Given the description of an element on the screen output the (x, y) to click on. 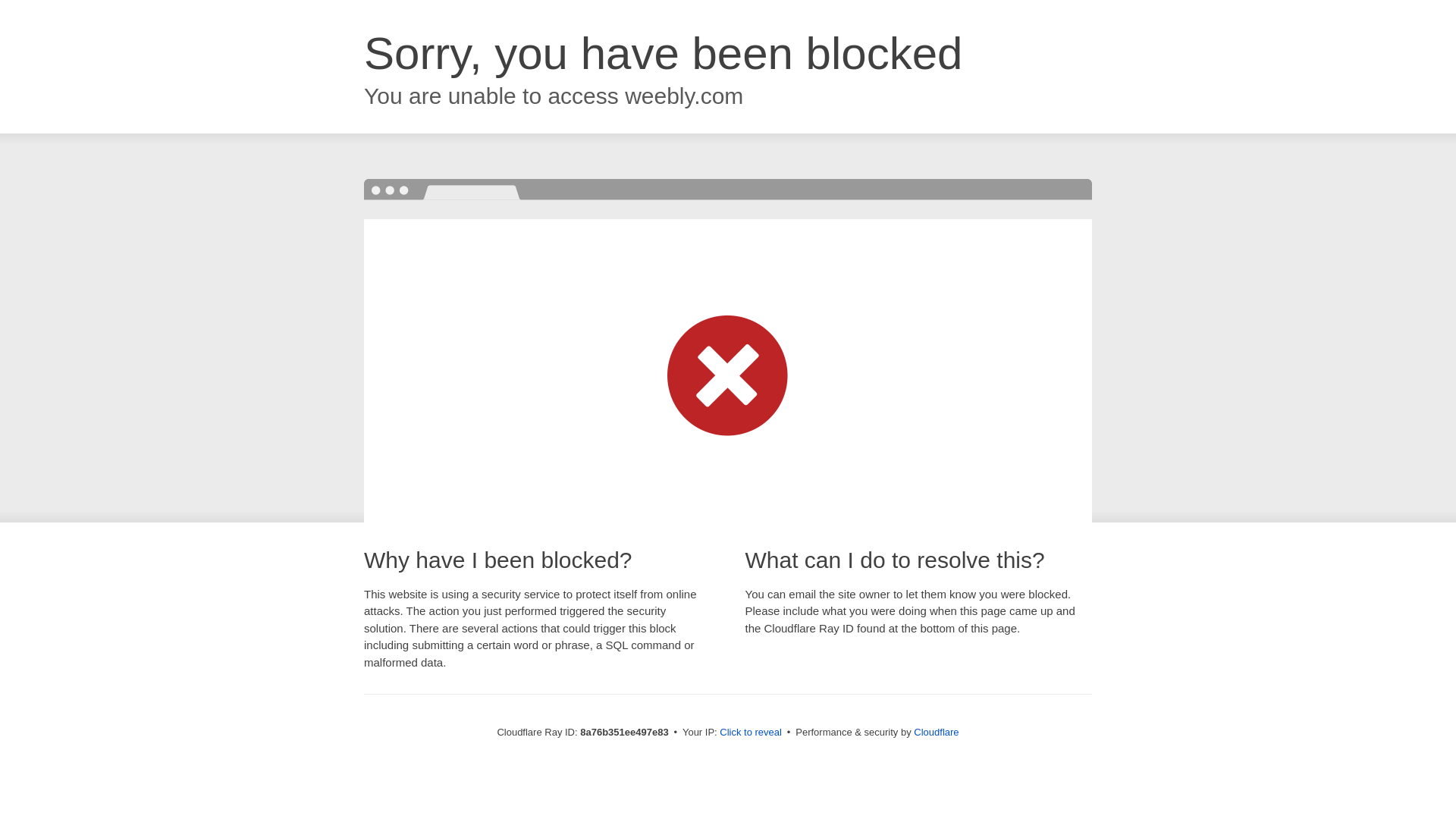
Click to reveal (750, 732)
Cloudflare (936, 731)
